Given the description of an element on the screen output the (x, y) to click on. 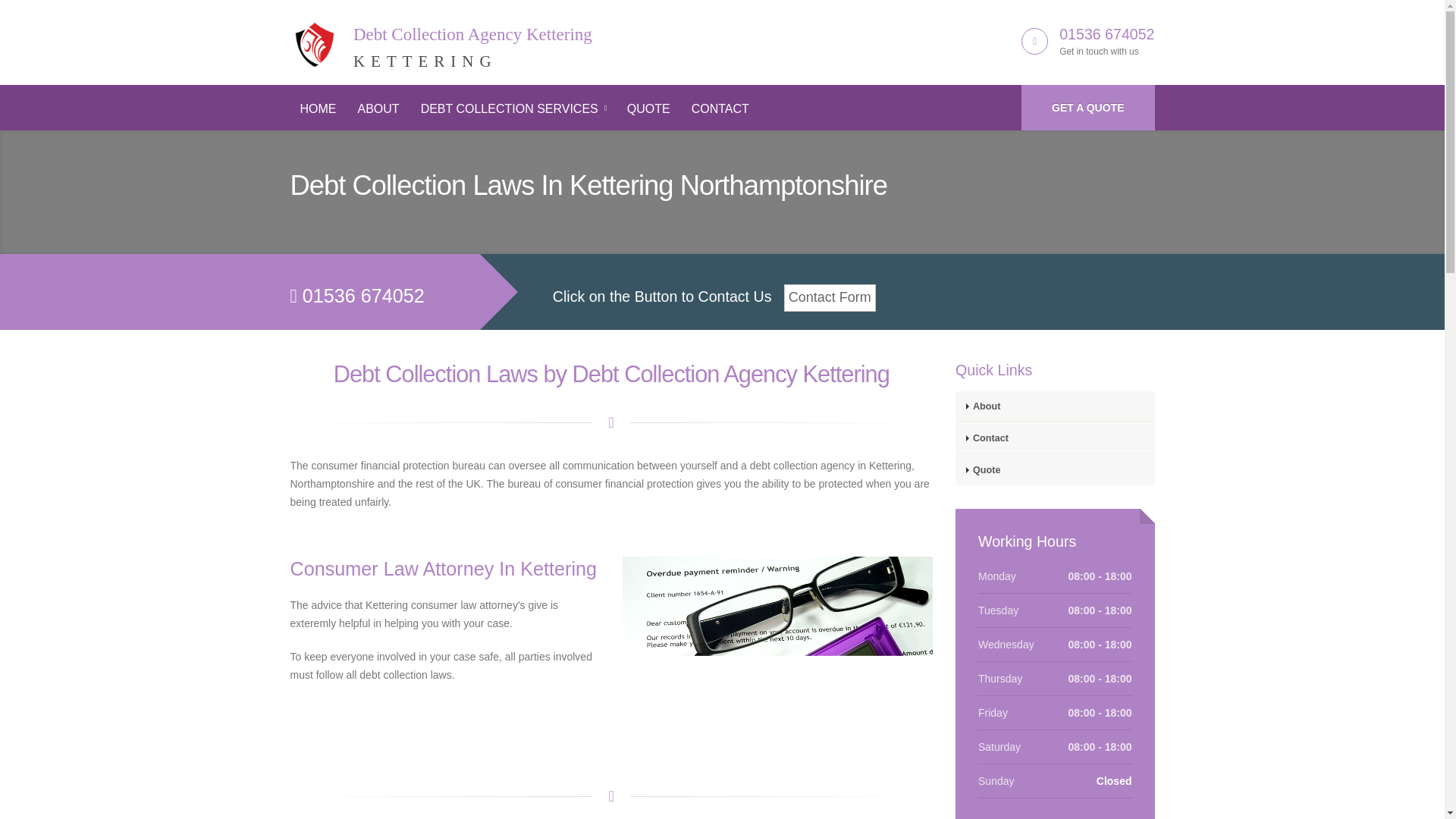
ABOUT (440, 38)
GET A QUOTE (378, 109)
HOME (1088, 107)
CONTACT (317, 109)
Contact Form (719, 109)
DEBT COLLECTION SERVICES (830, 298)
QUOTE (512, 109)
01536 674052 (648, 109)
